Given the description of an element on the screen output the (x, y) to click on. 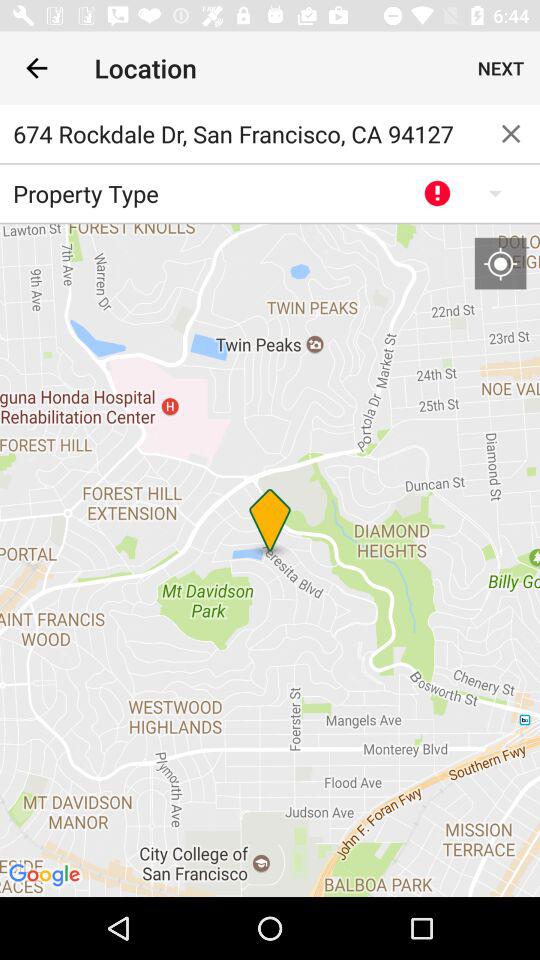
clear address (511, 133)
